Given the description of an element on the screen output the (x, y) to click on. 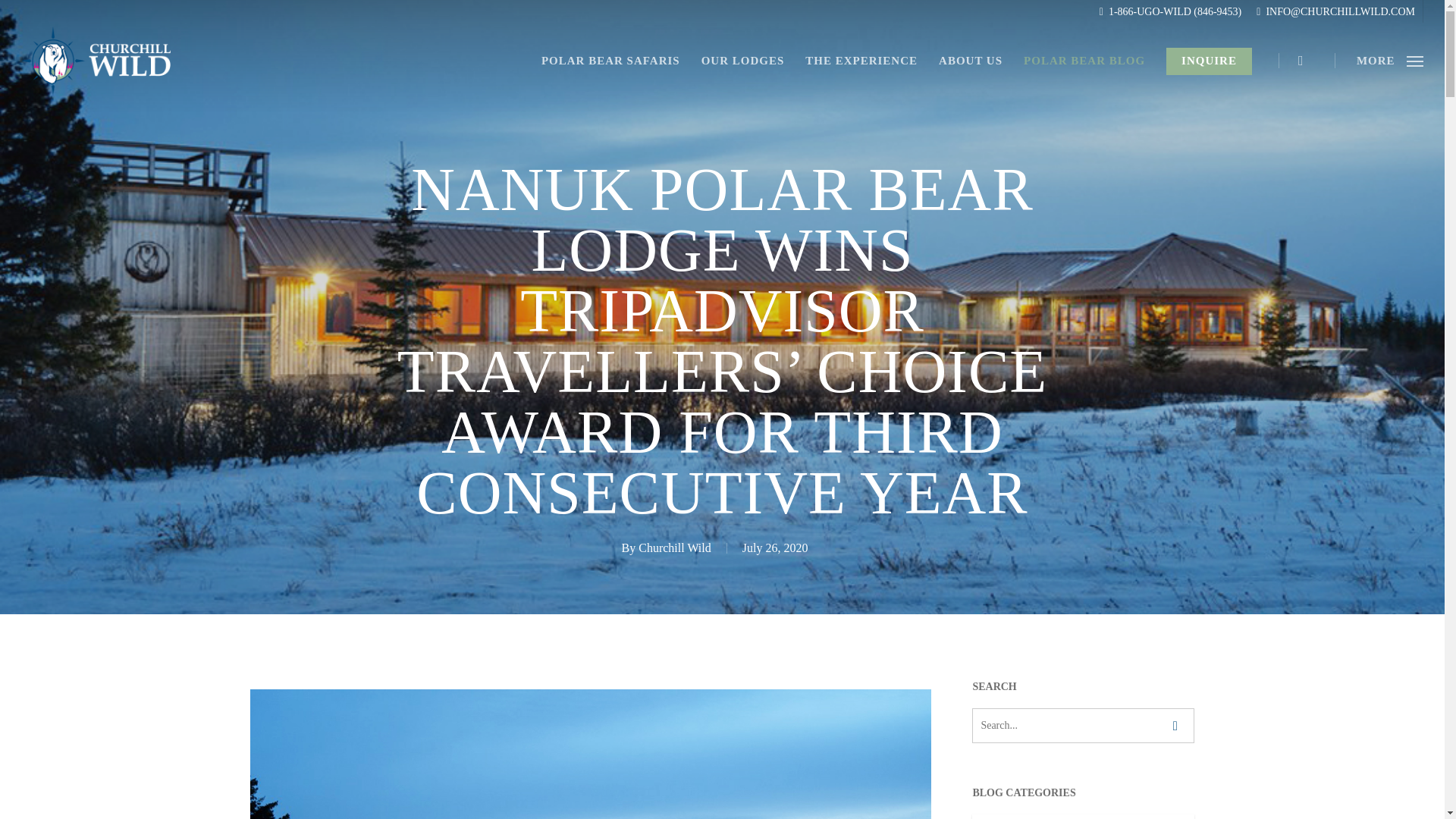
ABOUT US (970, 60)
Search for: (1082, 725)
THE EXPERIENCE (861, 60)
POLAR BEAR BLOG (1084, 60)
POLAR BEAR SAFARIS (610, 60)
Posts by Churchill Wild (675, 547)
OUR LODGES (742, 60)
